Given the description of an element on the screen output the (x, y) to click on. 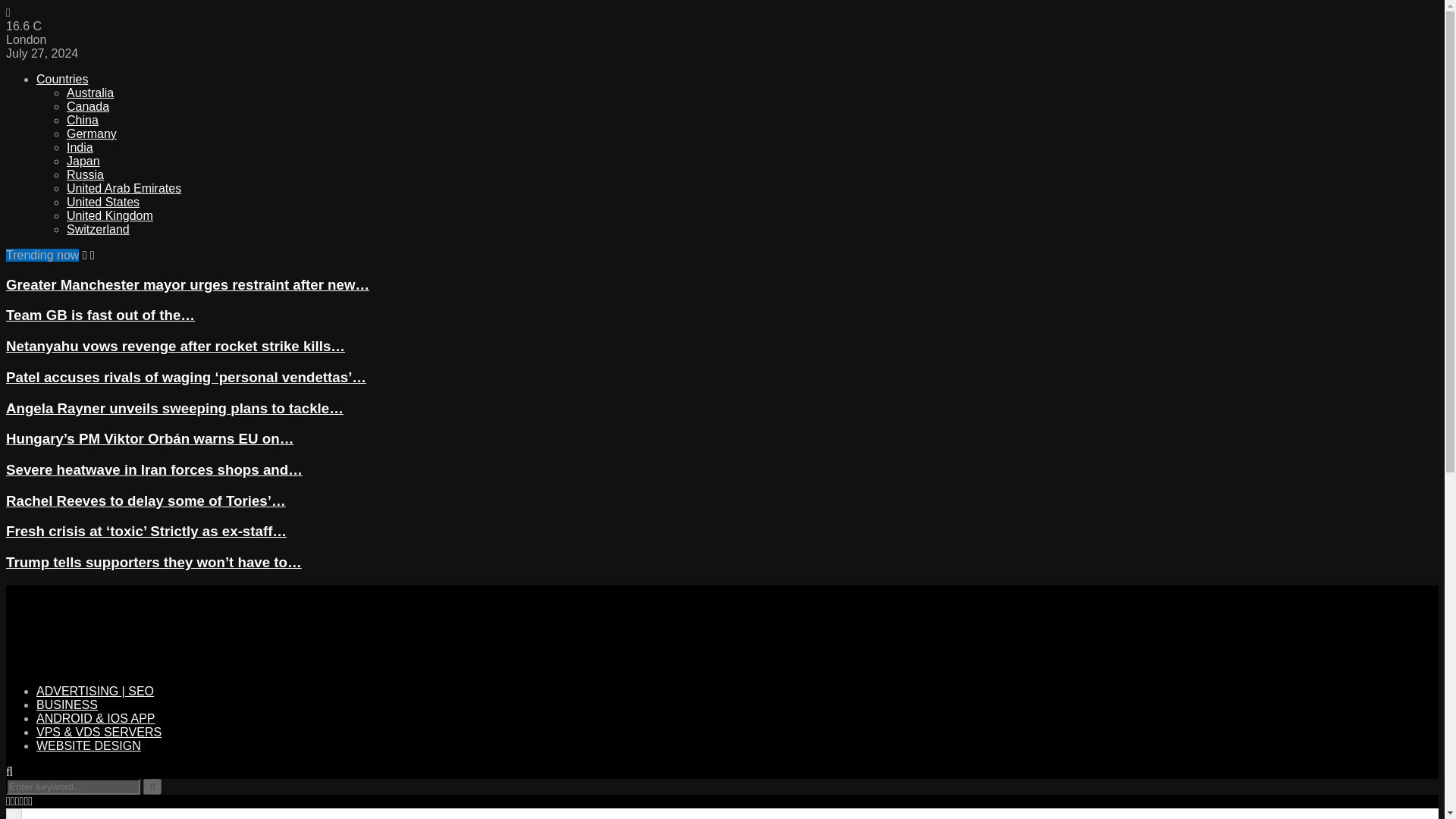
Behance (25, 800)
Instagram (17, 800)
United Kingdom (109, 215)
Germany (91, 133)
China (82, 119)
Facebook (7, 800)
Australia (89, 92)
Youtube (29, 800)
India (79, 146)
Switzerland (97, 228)
Russia (84, 174)
Japan (83, 160)
Behance (25, 800)
Facebook (7, 800)
United Arab Emirates (123, 187)
